Given the description of an element on the screen output the (x, y) to click on. 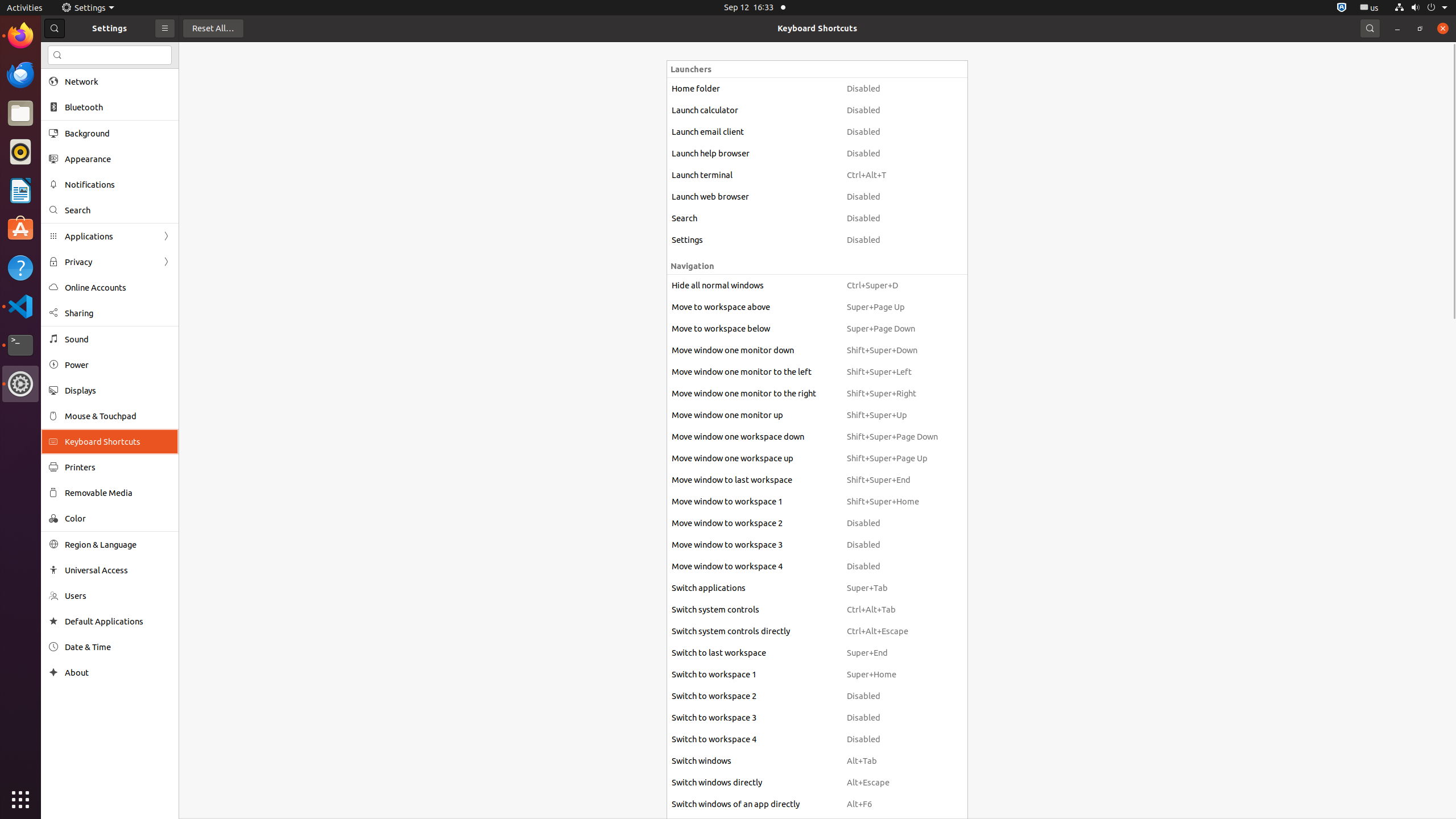
About Element type: label (117, 672)
Keyboard Shortcuts Element type: label (816, 27)
Move to workspace above Element type: label (753, 306)
Move window one monitor up Element type: label (753, 414)
Primary Menu Element type: toggle-button (164, 28)
